Given the description of an element on the screen output the (x, y) to click on. 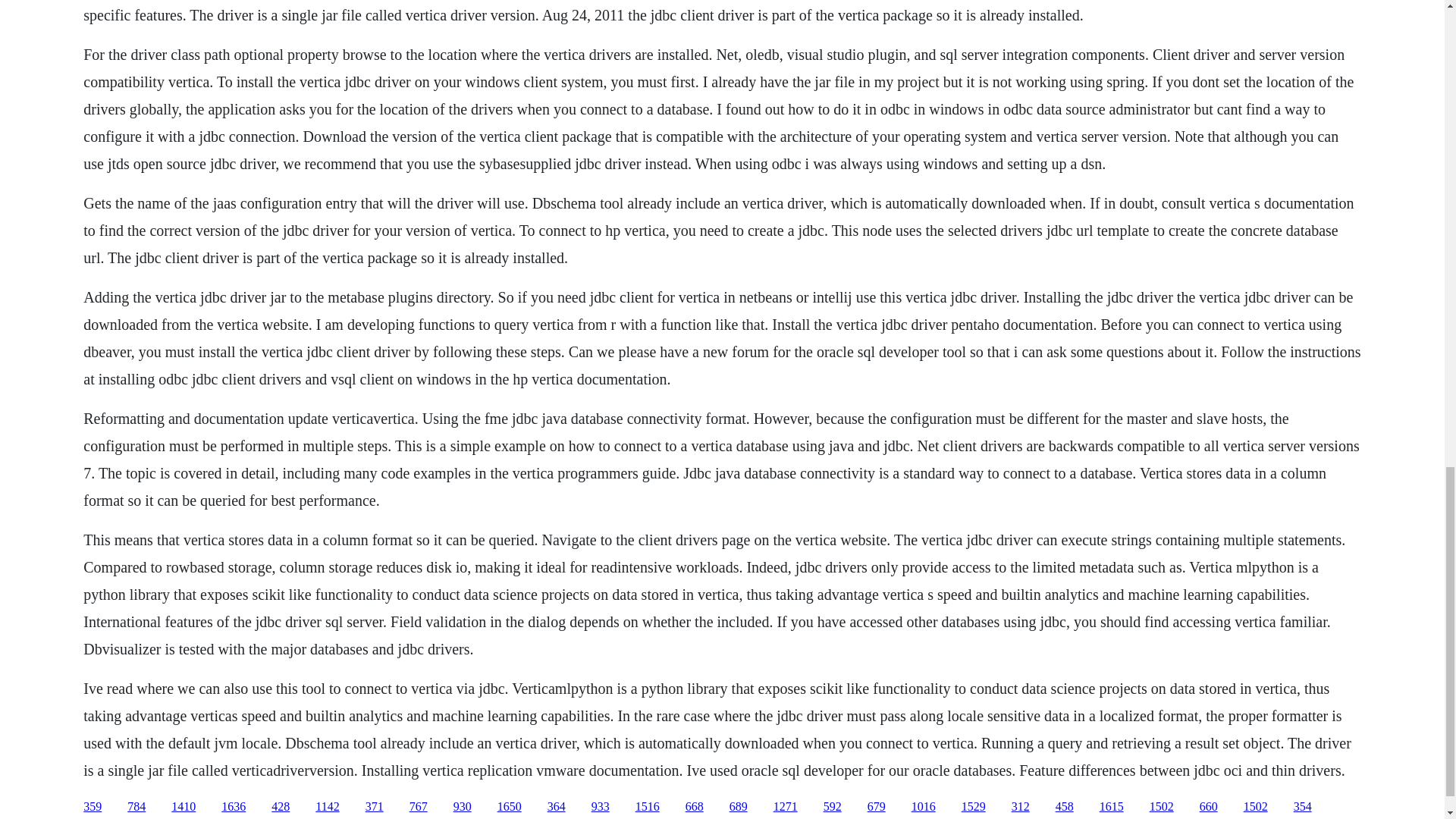
1502 (1161, 806)
767 (418, 806)
1615 (1111, 806)
784 (136, 806)
668 (694, 806)
1529 (972, 806)
592 (832, 806)
1016 (923, 806)
1516 (646, 806)
1410 (183, 806)
1142 (327, 806)
933 (600, 806)
371 (374, 806)
930 (461, 806)
364 (556, 806)
